Given the description of an element on the screen output the (x, y) to click on. 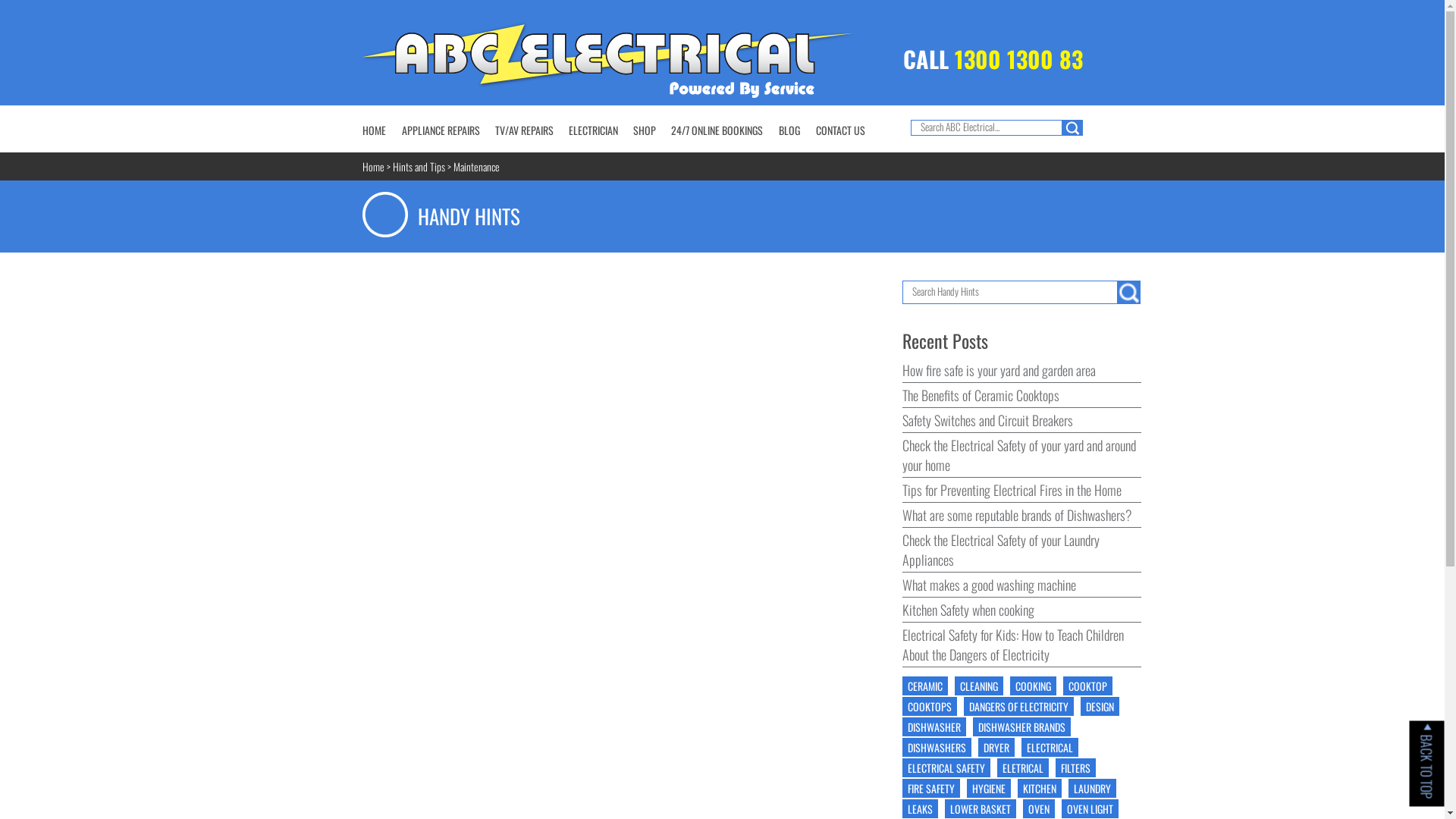
LEAKS Element type: text (920, 808)
BLOG Element type: text (788, 130)
Home Element type: text (373, 166)
TV/AV REPAIRS Element type: text (523, 130)
1300 1300 83 Element type: text (1017, 58)
CONTACT US Element type: text (840, 130)
FIRE SAFETY Element type: text (931, 787)
LAUNDRY Element type: text (1092, 787)
KITCHEN Element type: text (1039, 787)
Search for: Element type: hover (985, 127)
How fire safe is your yard and garden area Element type: text (998, 369)
DRYER Element type: text (996, 746)
DISHWASHER Element type: text (934, 726)
What are some reputable brands of Dishwashers? Element type: text (1017, 514)
HYGIENE Element type: text (988, 787)
COOKTOP Element type: text (1087, 685)
Kitchen Safety when cooking Element type: text (968, 609)
COOKING Element type: text (1033, 685)
DISHWASHER BRANDS Element type: text (1021, 726)
ELETRICAL Element type: text (1022, 767)
LOWER BASKET Element type: text (980, 808)
FILTERS Element type: text (1075, 767)
What makes a good washing machine Element type: text (989, 584)
Safety Switches and Circuit Breakers Element type: text (987, 419)
HOME Element type: text (373, 130)
The Benefits of Ceramic Cooktops Element type: text (980, 394)
Hints and Tips Element type: text (418, 166)
SHOP Element type: text (643, 130)
Search for: Element type: hover (1009, 292)
ELECTRICAL Element type: text (1049, 746)
DISHWASHERS Element type: text (936, 746)
OVEN LIGHT Element type: text (1089, 808)
DANGERS OF ELECTRICITY Element type: text (1018, 705)
24/7 ONLINE BOOKINGS Element type: text (716, 130)
CERAMIC Element type: text (924, 685)
COOKTOPS Element type: text (929, 705)
OVEN Element type: text (1038, 808)
ELECTRICIAN Element type: text (593, 130)
CLEANING Element type: text (978, 685)
Tips for Preventing Electrical Fires in the Home Element type: text (1011, 489)
DESIGN Element type: text (1099, 705)
Check the Electrical Safety of your Laundry Appliances Element type: text (1000, 549)
APPLIANCE REPAIRS Element type: text (440, 130)
ELECTRICAL SAFETY Element type: text (946, 767)
